Given the description of an element on the screen output the (x, y) to click on. 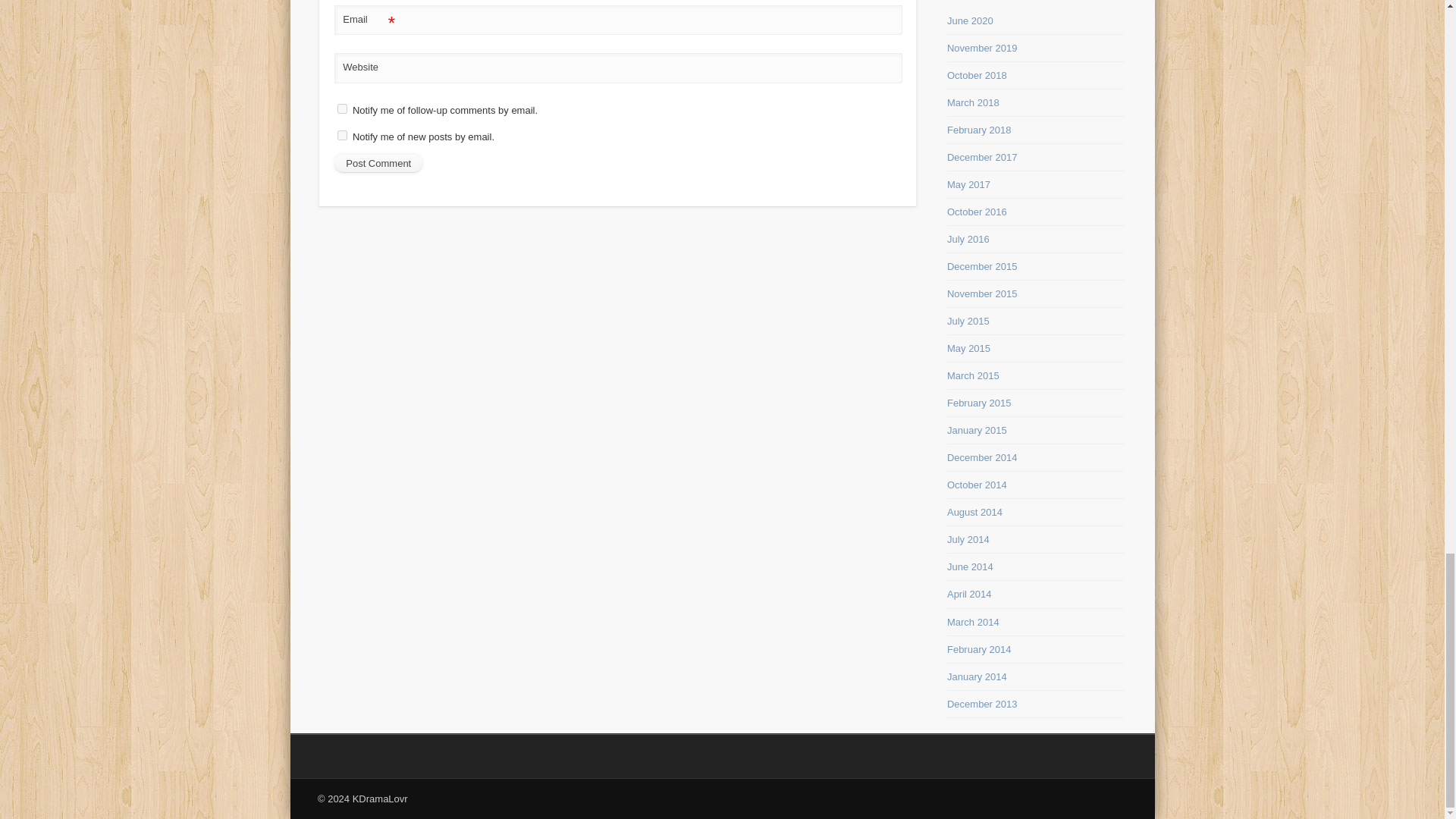
May 2017 (968, 184)
March 2018 (972, 102)
December 2017 (982, 156)
June 2020 (969, 19)
February 2018 (979, 129)
October 2018 (977, 75)
Post Comment (378, 163)
Post Comment (378, 163)
subscribe (342, 135)
subscribe (342, 108)
